Given the description of an element on the screen output the (x, y) to click on. 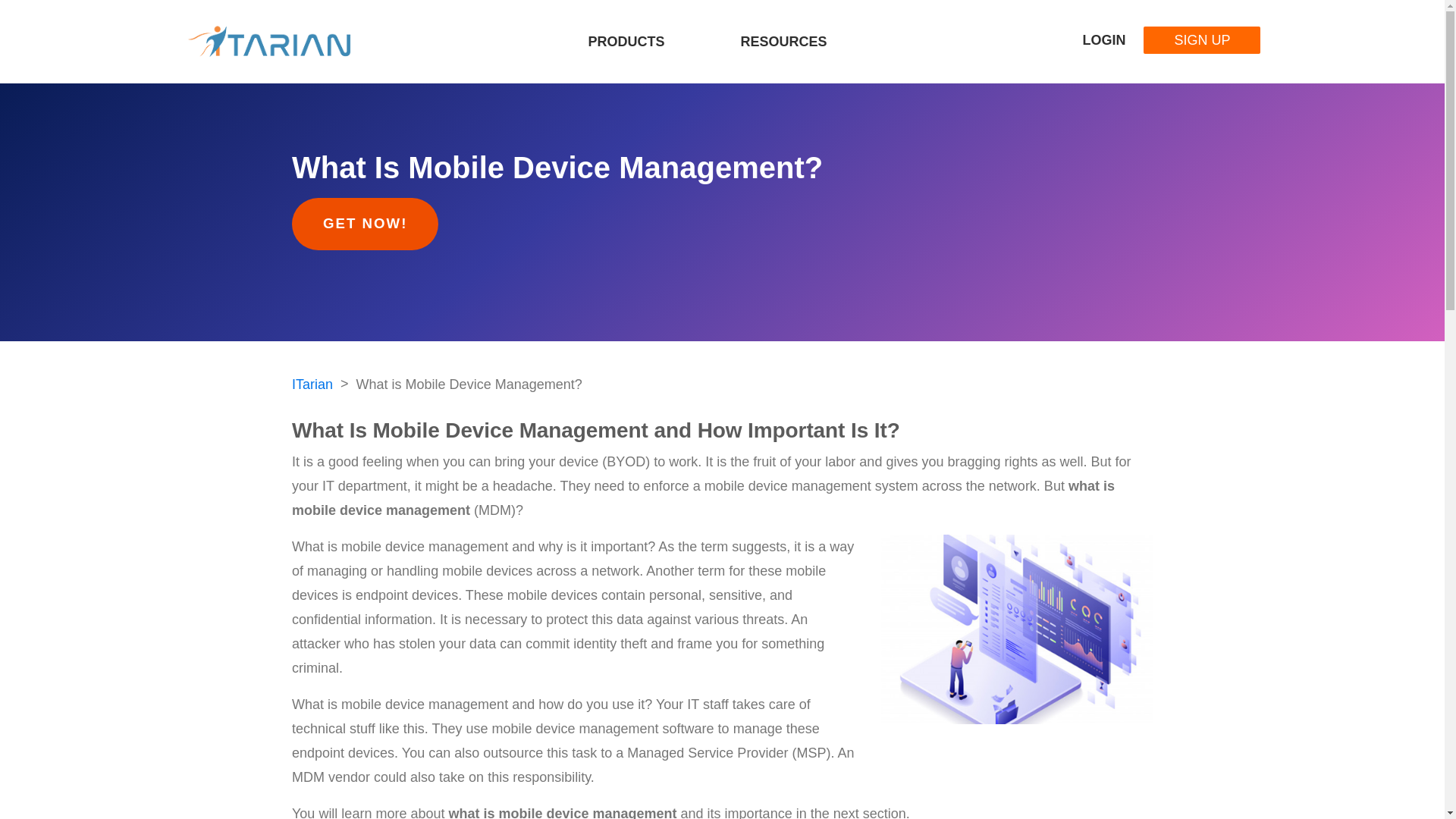
PRODUCTS (626, 41)
GET NOW! (365, 224)
RESOURCES (783, 41)
SIGN UP (1201, 40)
LOGIN (1088, 39)
ITarian (312, 383)
